Given the description of an element on the screen output the (x, y) to click on. 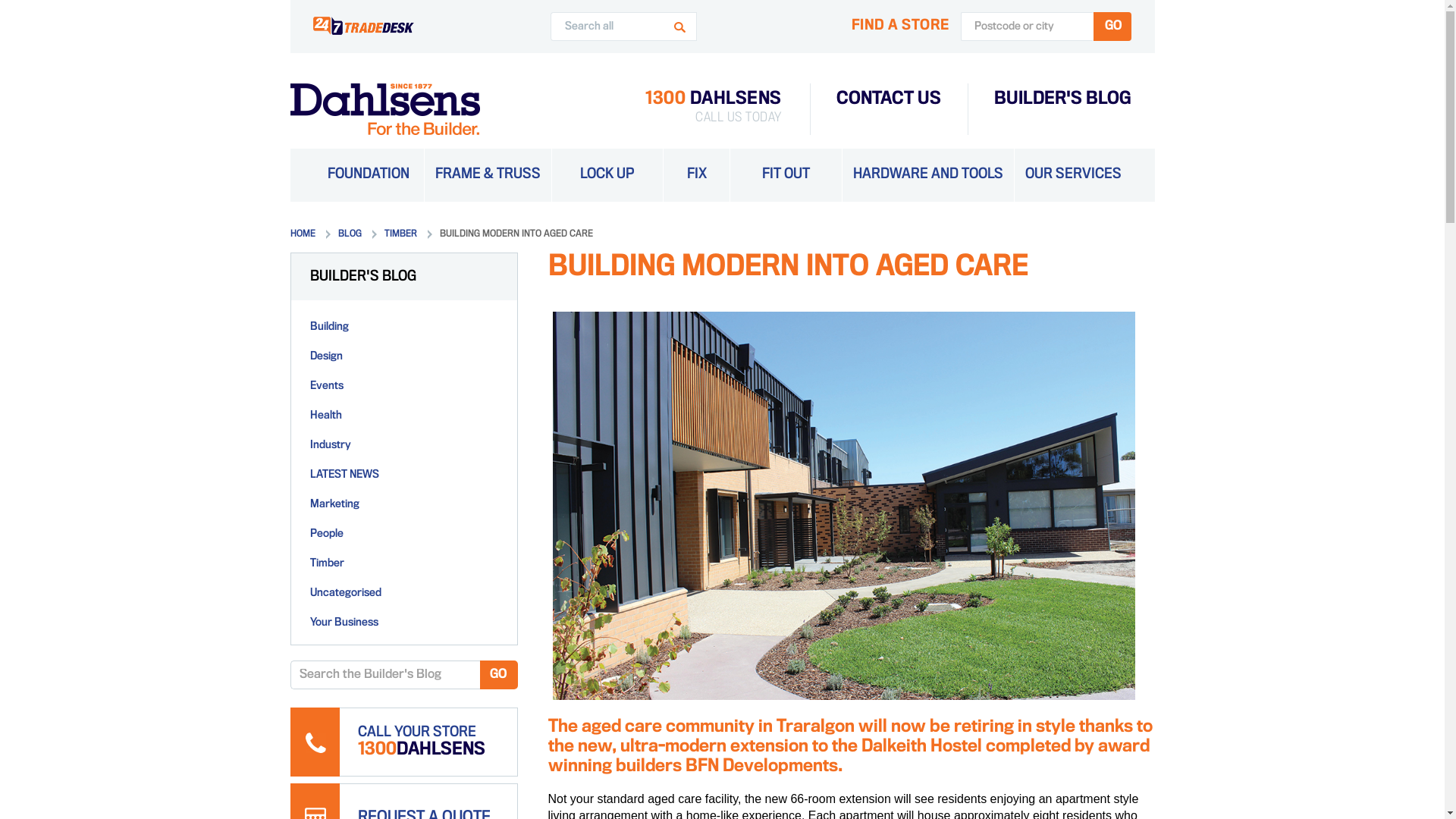
Timber Element type: text (326, 563)
  Element type: text (362, 25)
Industry Element type: text (329, 445)
Uncategorised Element type: text (344, 593)
GO Element type: text (498, 674)
1300 DAHLSENS
CALL US TODAY Element type: text (713, 109)
HOME Element type: text (313, 234)
Events Element type: text (325, 386)
BUILDER'S BLOG Element type: text (1061, 99)
FRAME & TRUSS Element type: text (487, 174)
BLOG Element type: text (361, 234)
Marketing Element type: text (333, 504)
FIX Element type: text (696, 174)
FOUNDATION Element type: text (367, 174)
HARDWARE AND TOOLS Element type: text (927, 174)
OUR SERVICES Element type: text (1073, 174)
Search Posts Element type: hover (384, 674)
People Element type: text (325, 533)
LOCK UP Element type: text (607, 174)
CALL YOUR STORE
1300DAHLSENS Element type: text (403, 741)
LATEST NEWS Element type: text (343, 474)
Design Element type: text (325, 356)
Building Element type: text (328, 326)
FIT OUT Element type: text (785, 174)
TIMBER Element type: text (411, 234)
GO Element type: text (1112, 26)
Your Business Element type: text (343, 622)
CONTACT US Element type: text (887, 99)
Health Element type: text (325, 415)
Search Element type: hover (680, 26)
